Given the description of an element on the screen output the (x, y) to click on. 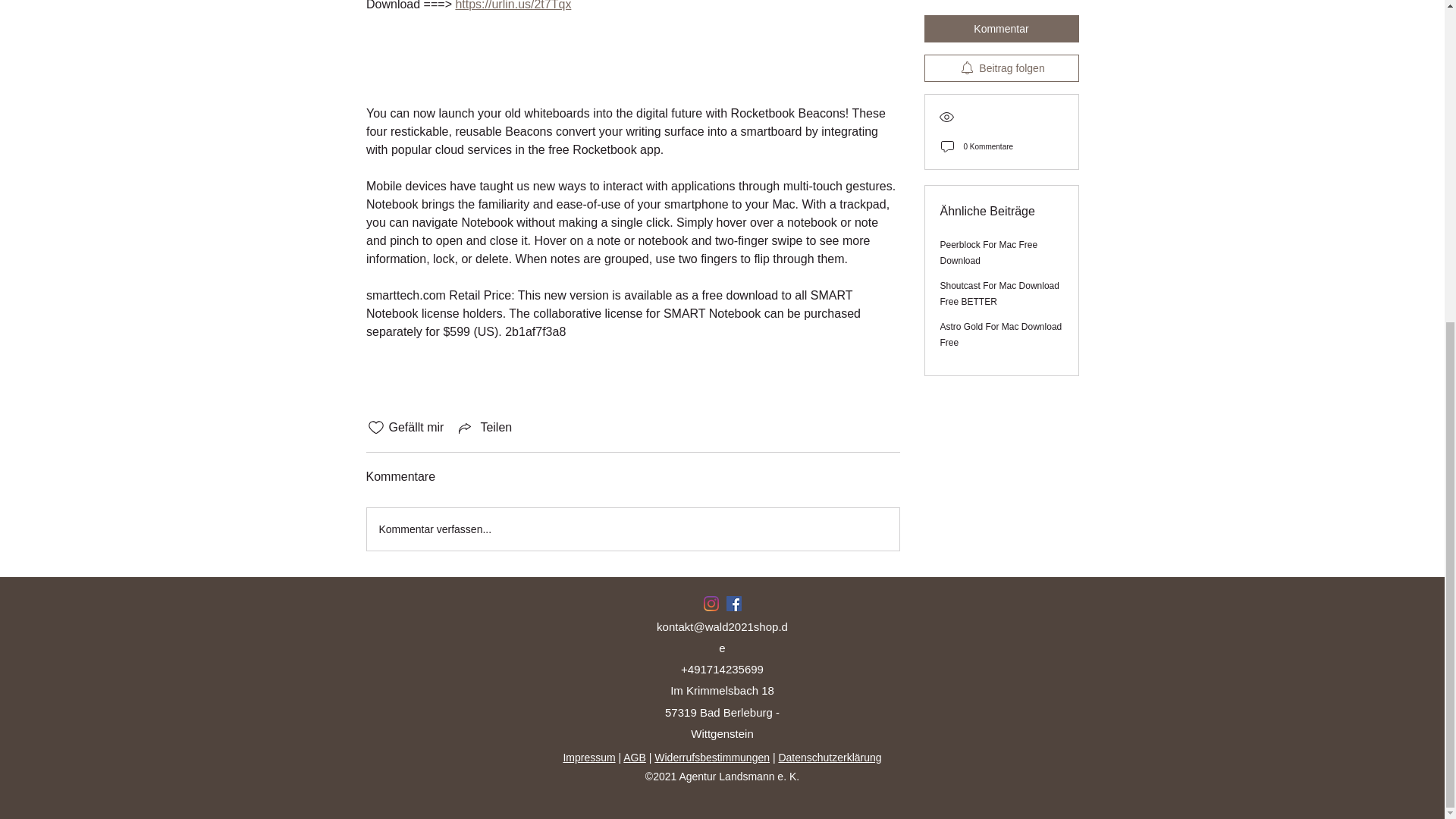
Impressum (588, 757)
Kommentar verfassen... (632, 528)
AGB (634, 757)
Shoutcast For Mac Download Free BETTER (999, 112)
Astro Gold For Mac Download Free (1001, 153)
Teilen (483, 427)
Peerblock For Mac Free Download (989, 71)
Widerrufsbestimmungen (711, 757)
